Given the description of an element on the screen output the (x, y) to click on. 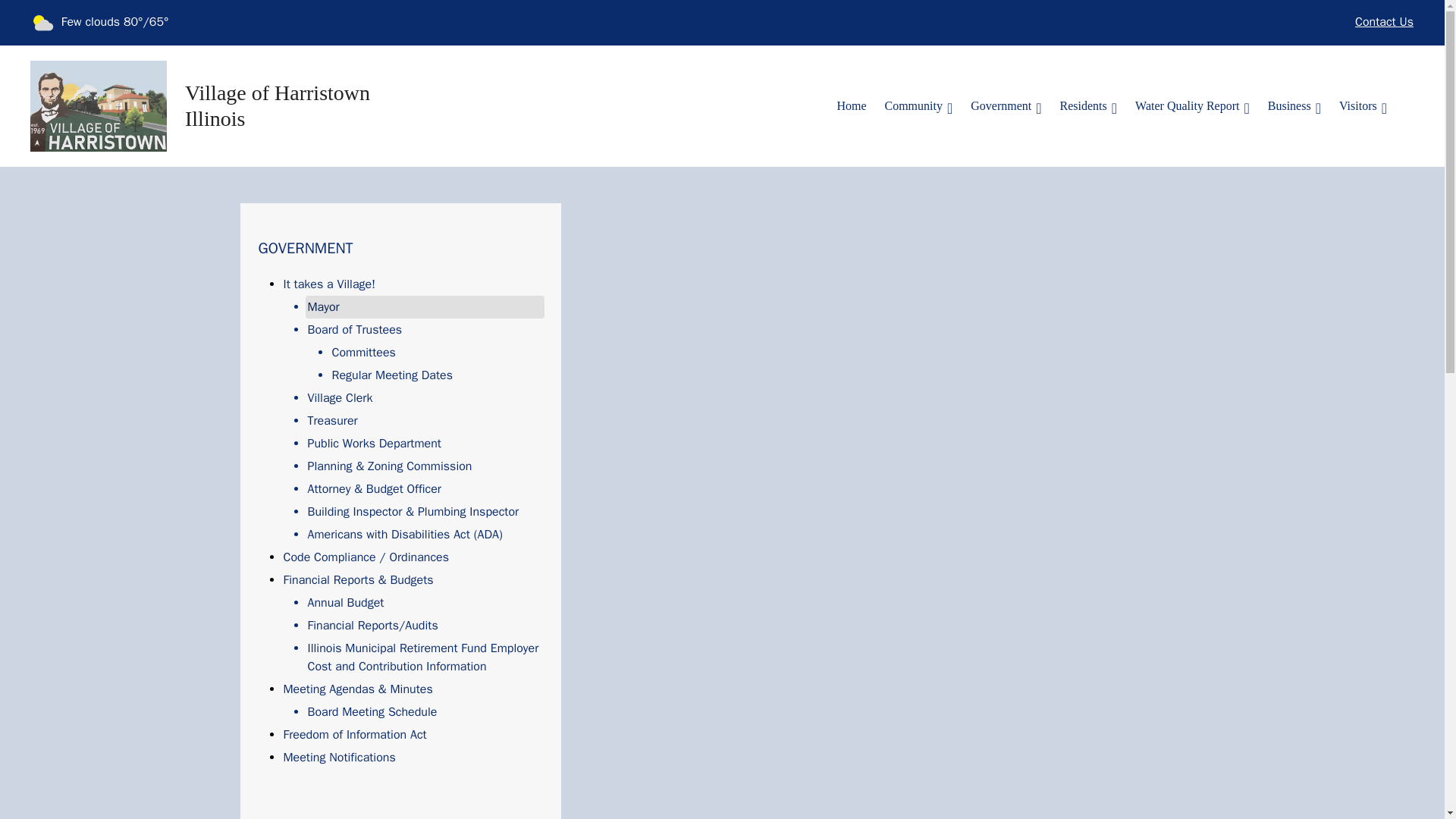
Home (851, 105)
Government (1004, 105)
Contact Us (1383, 22)
Village of Harristown Illinois (298, 105)
contains current page link (1004, 105)
Community (917, 105)
